Given the description of an element on the screen output the (x, y) to click on. 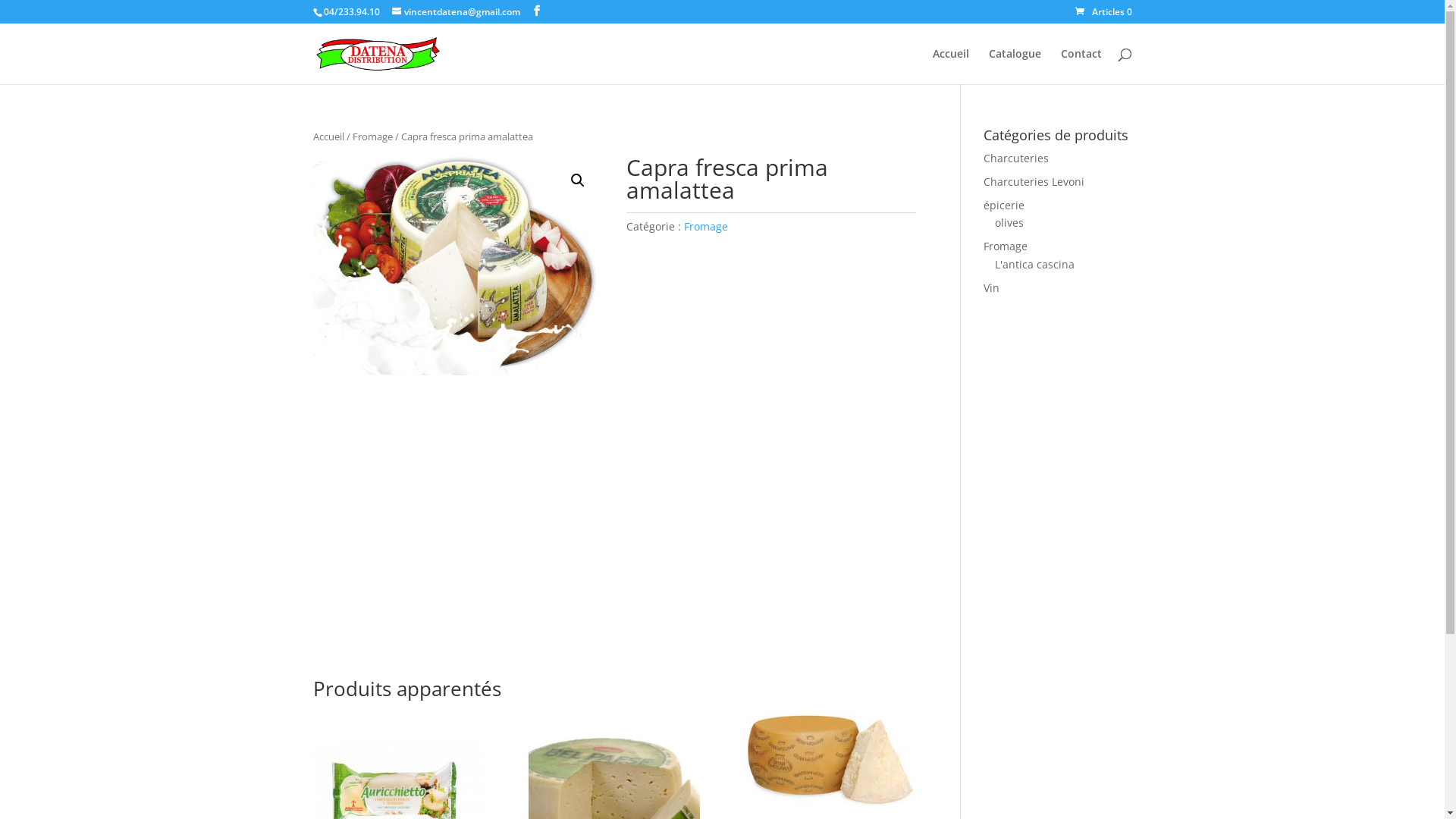
vincentdatena@gmail.com Element type: text (455, 11)
Fromage Element type: text (706, 226)
Fromage Element type: text (371, 136)
L'antica cascina Element type: text (1034, 264)
la-prima-amalattea Element type: hover (457, 265)
Articles 0 Element type: text (1103, 11)
Accueil Element type: text (327, 136)
Vin Element type: text (991, 287)
Charcuteries Levoni Element type: text (1033, 181)
Catalogue Element type: text (1014, 66)
Contact Element type: text (1080, 66)
Fromage Element type: text (1005, 245)
olives Element type: text (1008, 222)
Charcuteries Element type: text (1015, 157)
Accueil Element type: text (950, 66)
